Given the description of an element on the screen output the (x, y) to click on. 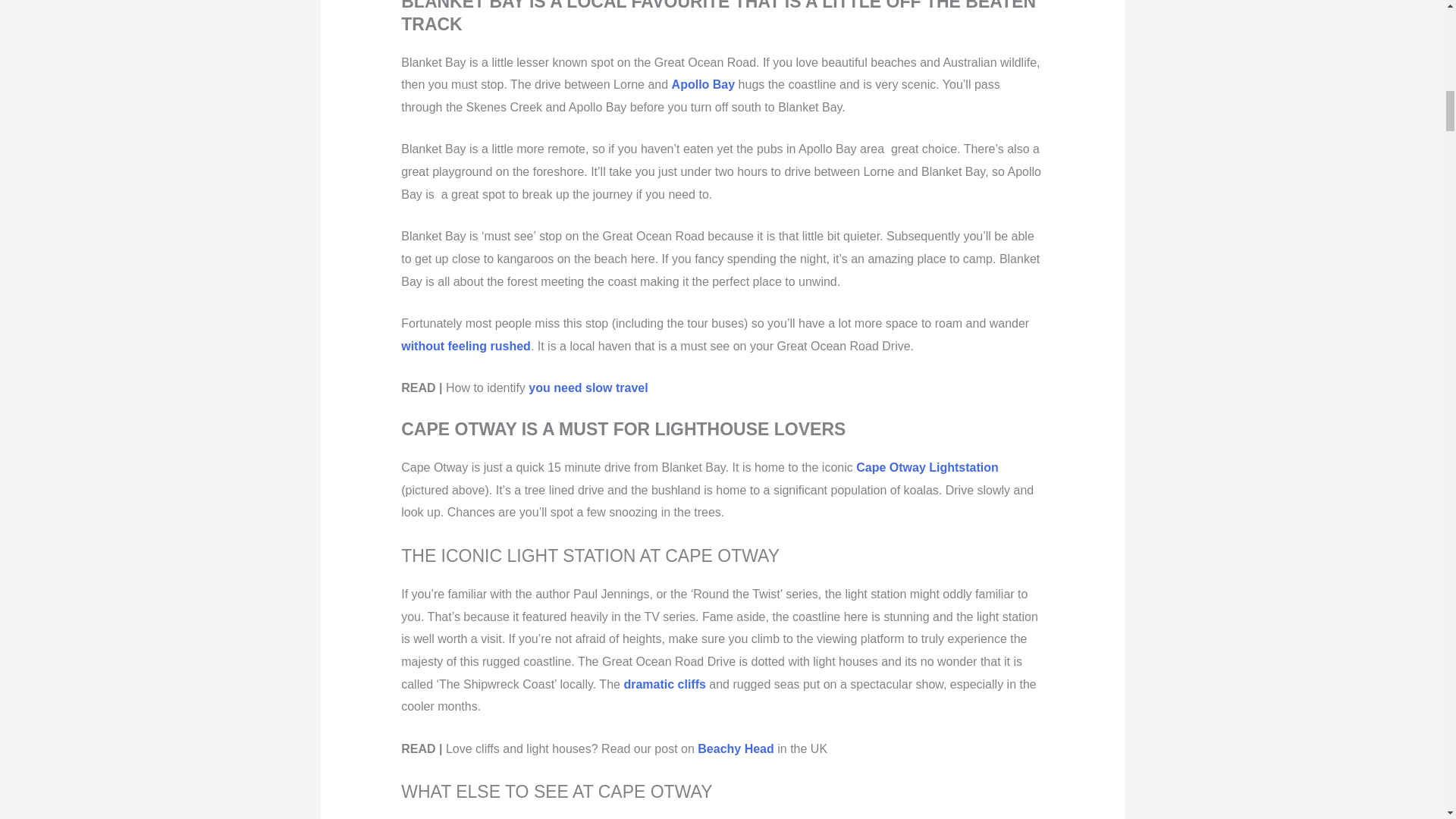
you need slow travel (587, 387)
dramatic cliffs (663, 684)
Beachy Head (735, 748)
Apollo Bay (703, 83)
Cape Otway Lightstation (927, 467)
without feeling rushed (466, 345)
